Given the description of an element on the screen output the (x, y) to click on. 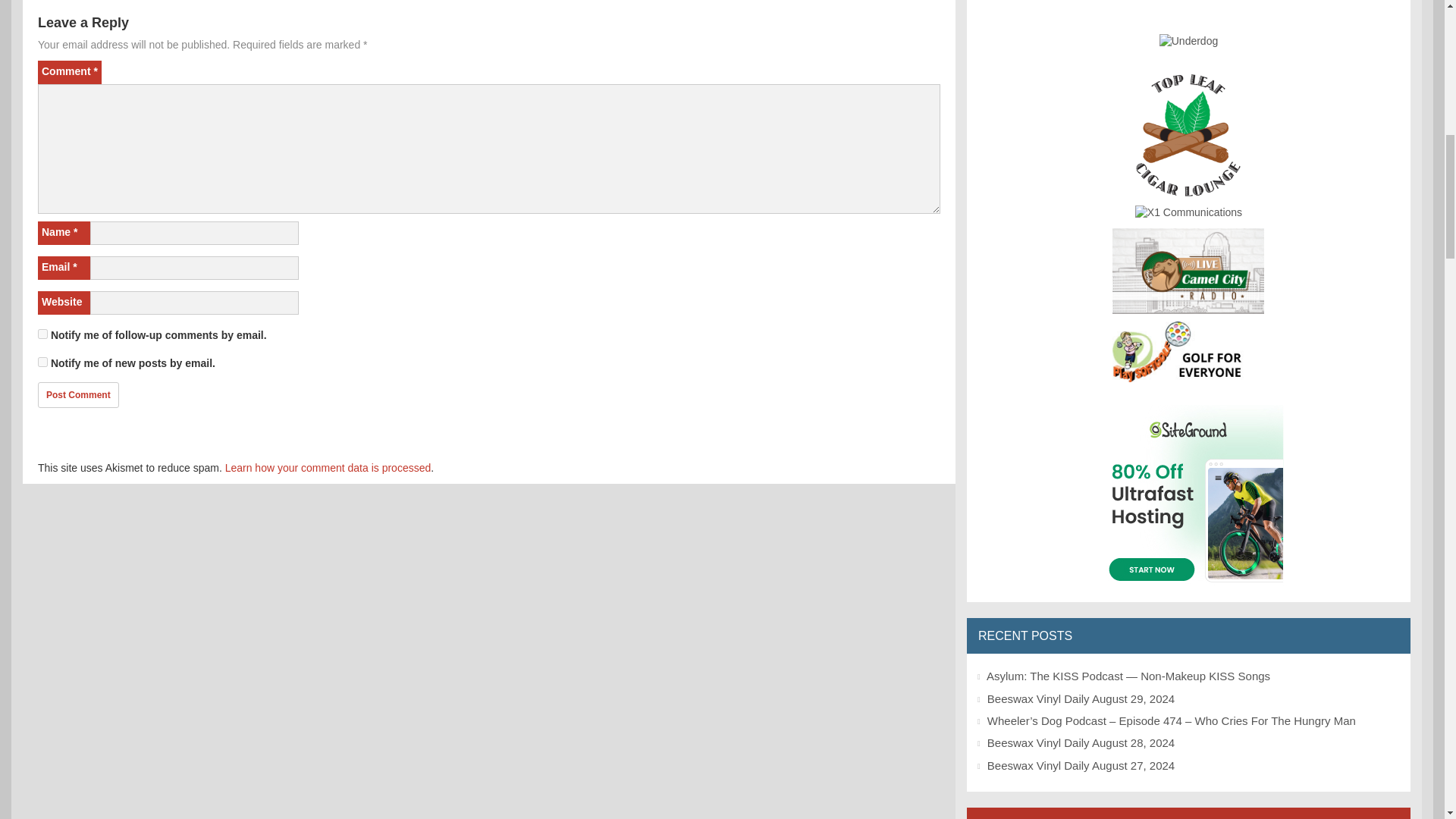
Beeswax Vinyl Daily August 29, 2024 (1080, 698)
Learn how your comment data is processed (327, 467)
Post Comment (78, 394)
subscribe (42, 334)
subscribe (42, 361)
Post Comment (78, 394)
